Given the description of an element on the screen output the (x, y) to click on. 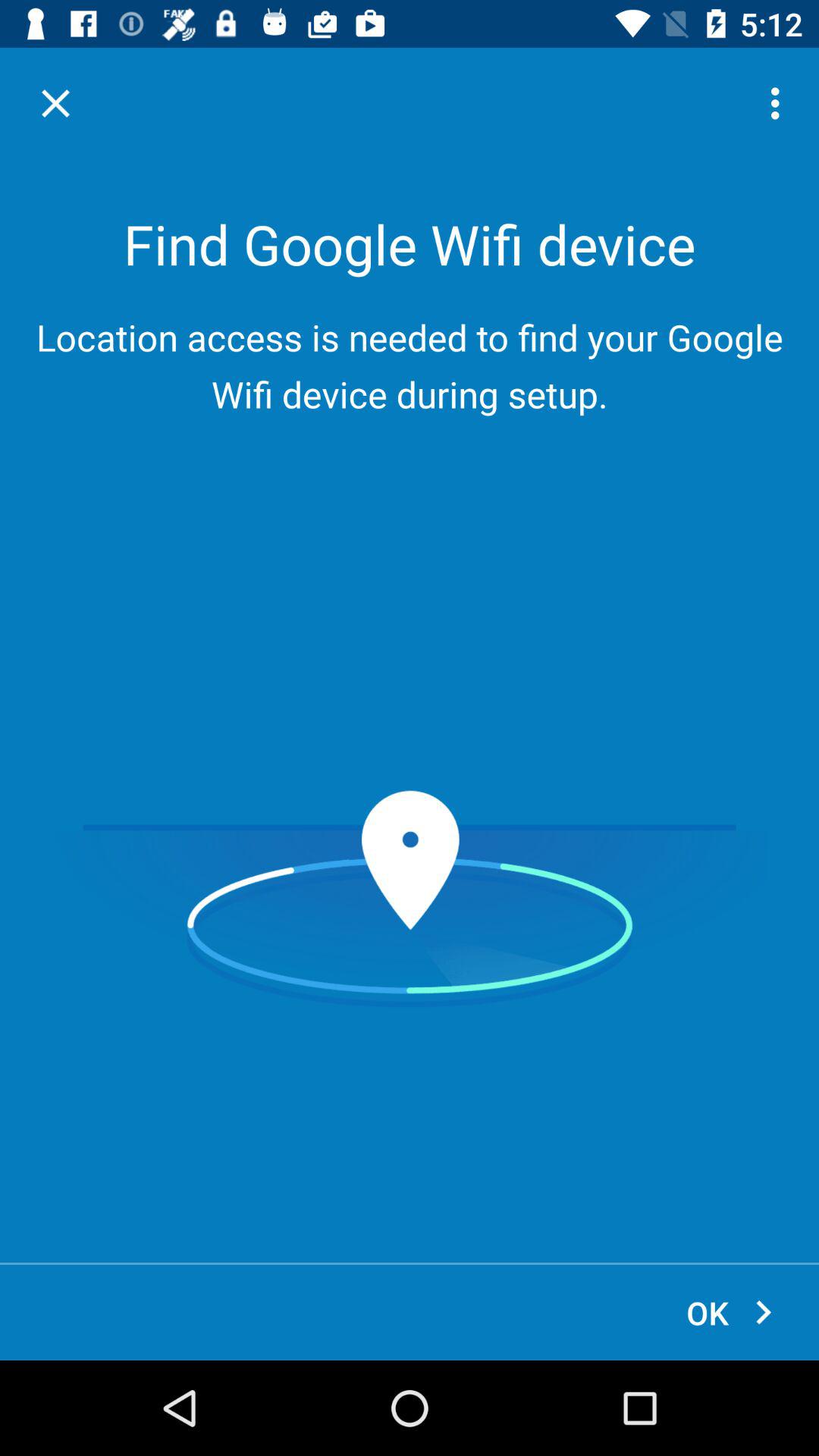
open the icon above the location access is icon (779, 103)
